Given the description of an element on the screen output the (x, y) to click on. 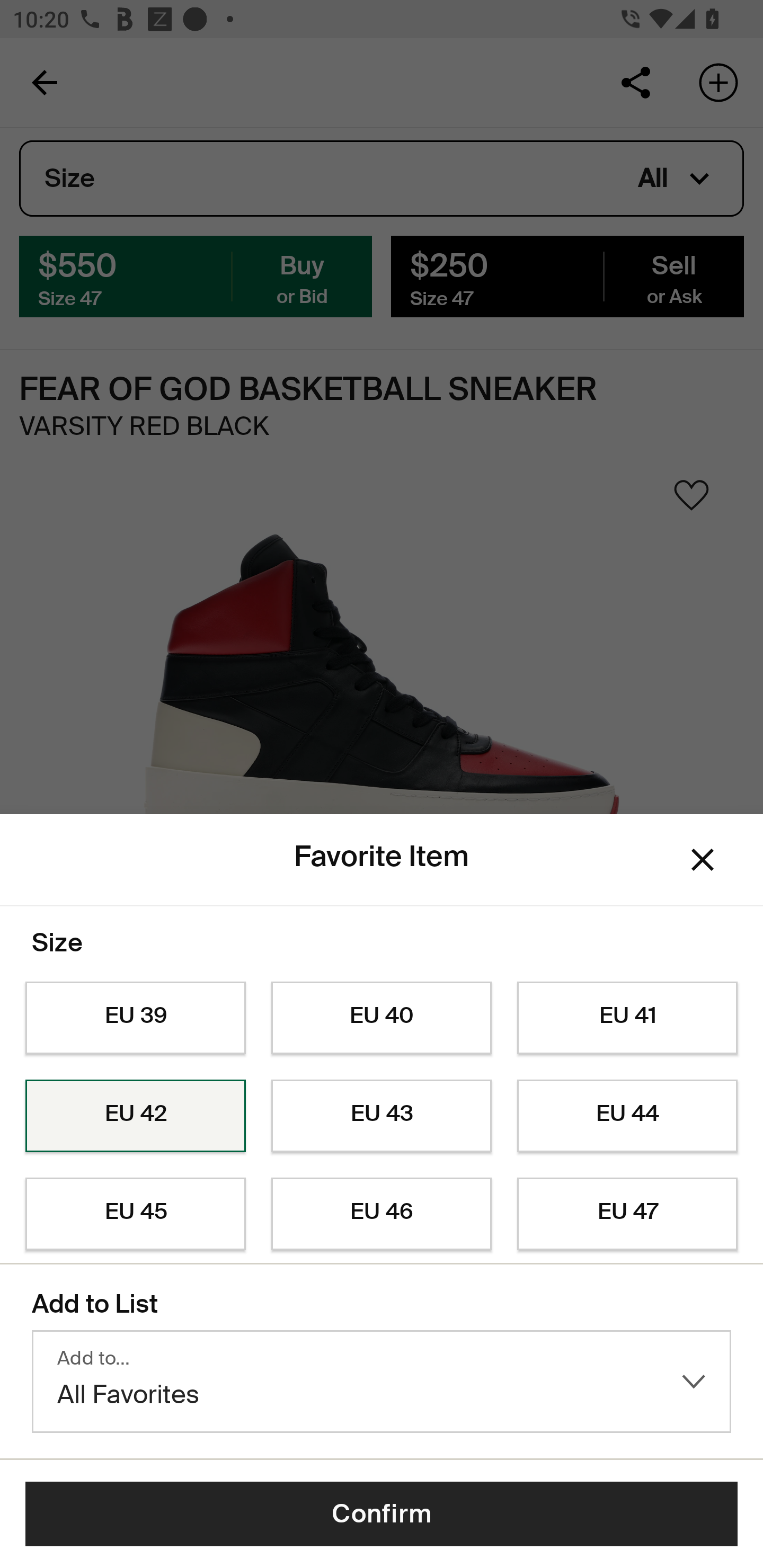
Dismiss (702, 859)
EU 39 (135, 1018)
EU 40 (381, 1018)
EU 41 (627, 1018)
EU 42 (135, 1116)
EU 43 (381, 1116)
EU 44 (627, 1116)
EU 45 (135, 1214)
EU 46 (381, 1214)
EU 47 (627, 1214)
Add to… All Favorites (381, 1381)
Confirm (381, 1513)
